Given the description of an element on the screen output the (x, y) to click on. 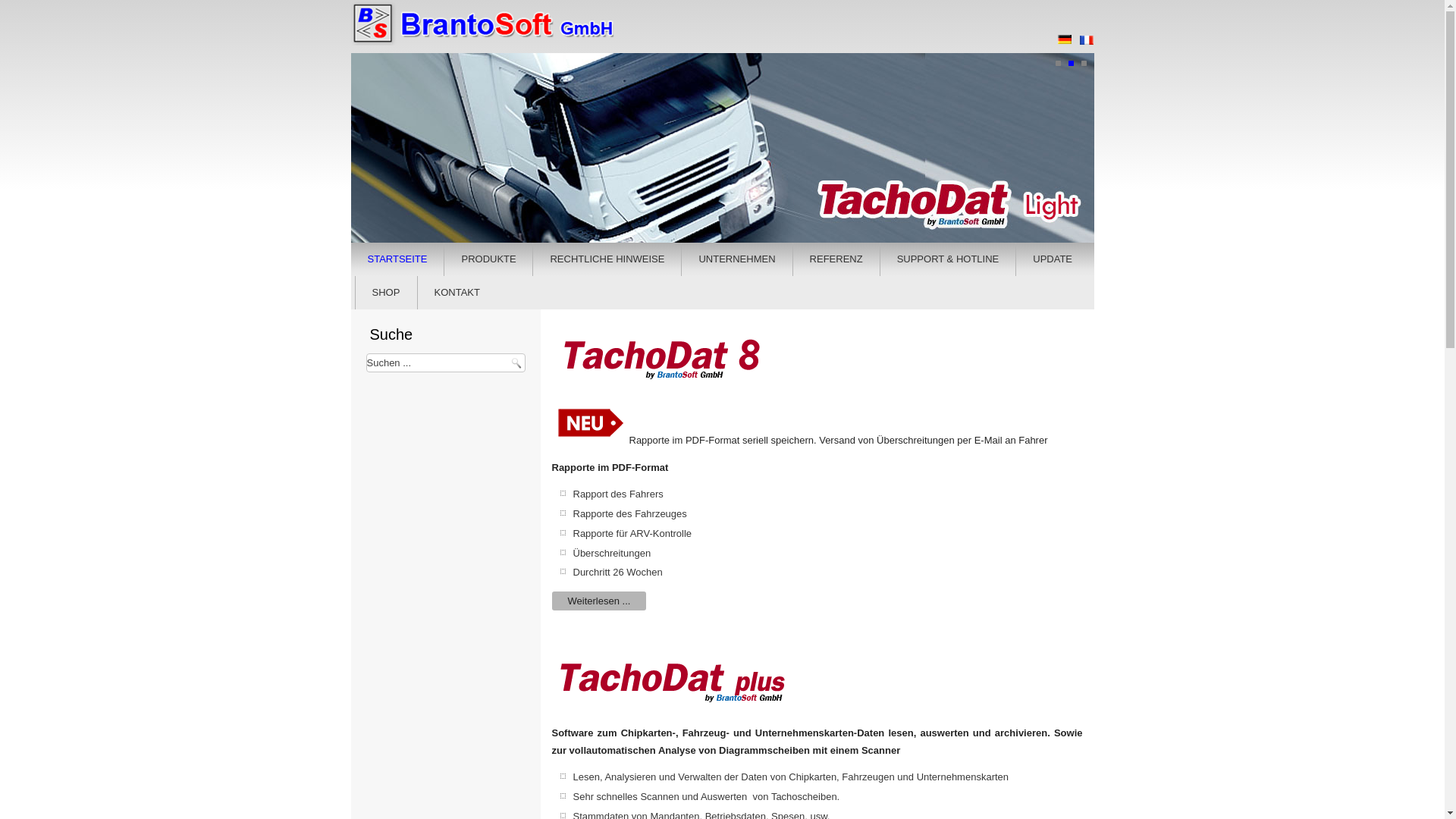
German Element type: hover (1064, 39)
SHOP Element type: text (386, 292)
PRODUKTE Element type: text (488, 259)
UPDATE Element type: text (1052, 259)
Weiterlesen ... Element type: text (599, 600)
REFERENZ Element type: text (836, 259)
SUPPORT & HOTLINE Element type: text (948, 259)
KONTAKT Element type: text (456, 292)
UNTERNEHMEN Element type: text (736, 259)
French Element type: hover (1085, 39)
STARTSEITE Element type: text (397, 259)
RECHTLICHE HINWEISE Element type: text (606, 259)
